Given the description of an element on the screen output the (x, y) to click on. 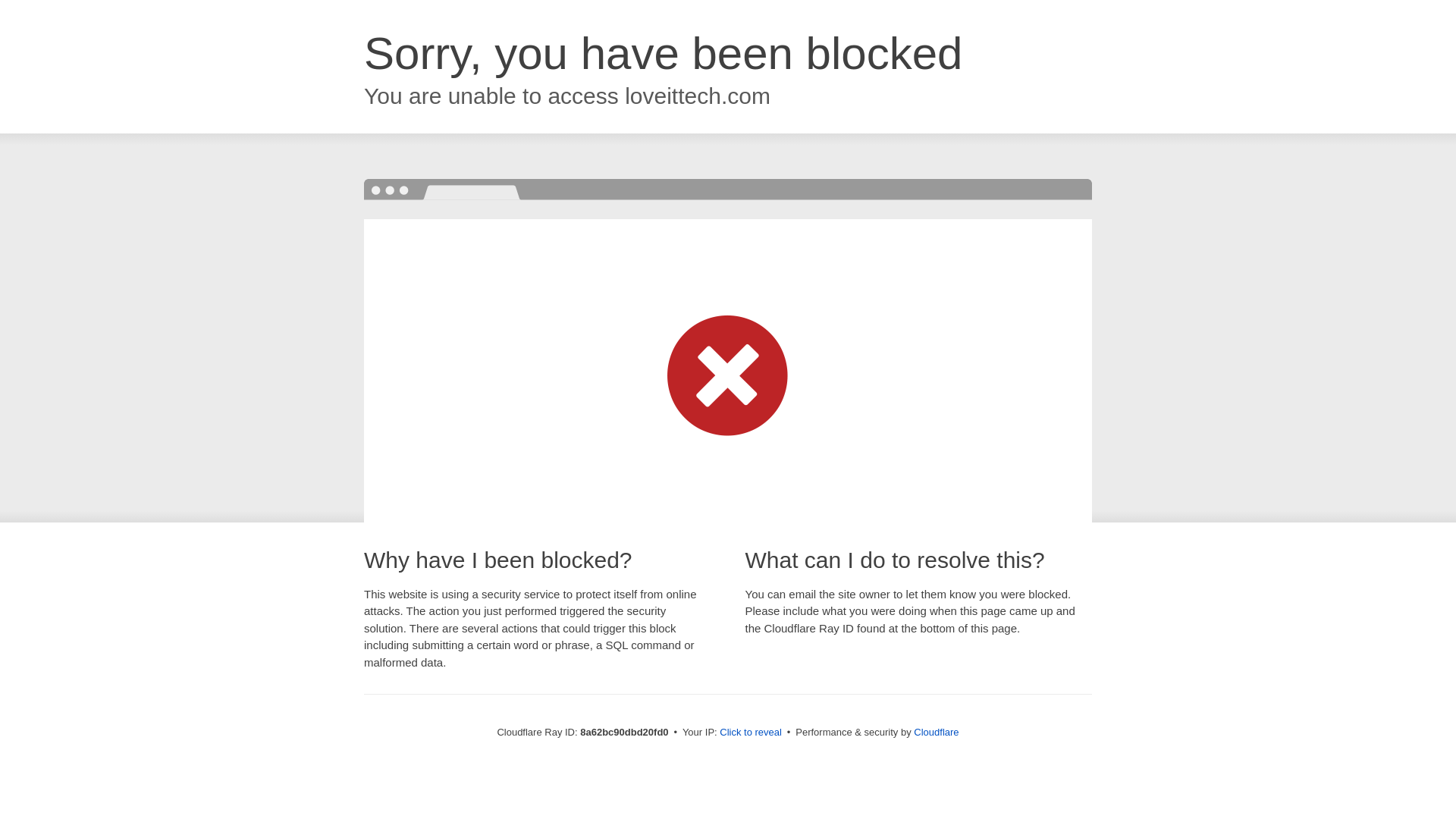
Click to reveal (750, 732)
Cloudflare (936, 731)
